Given the description of an element on the screen output the (x, y) to click on. 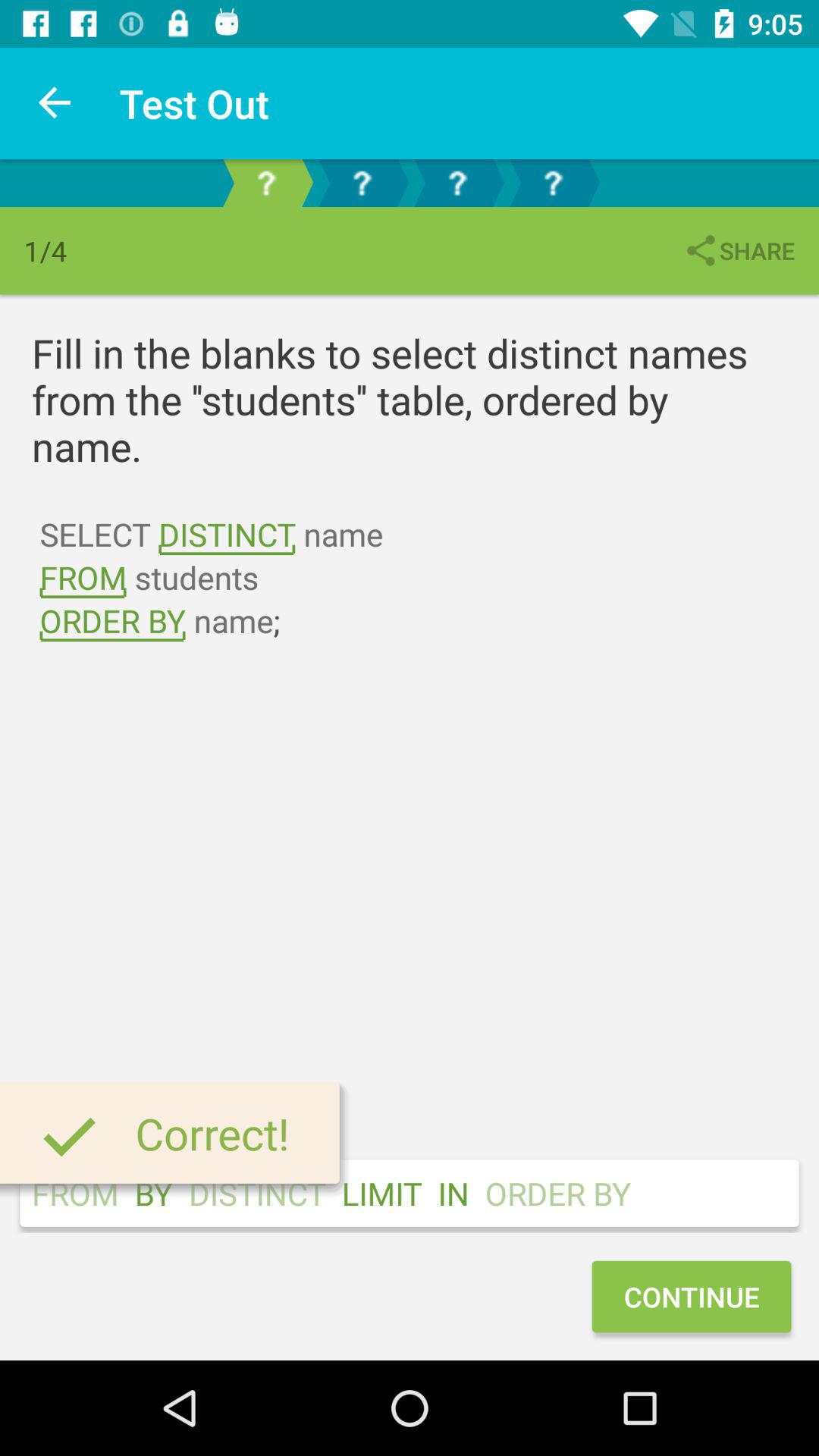
go to second question mark (361, 183)
